Given the description of an element on the screen output the (x, y) to click on. 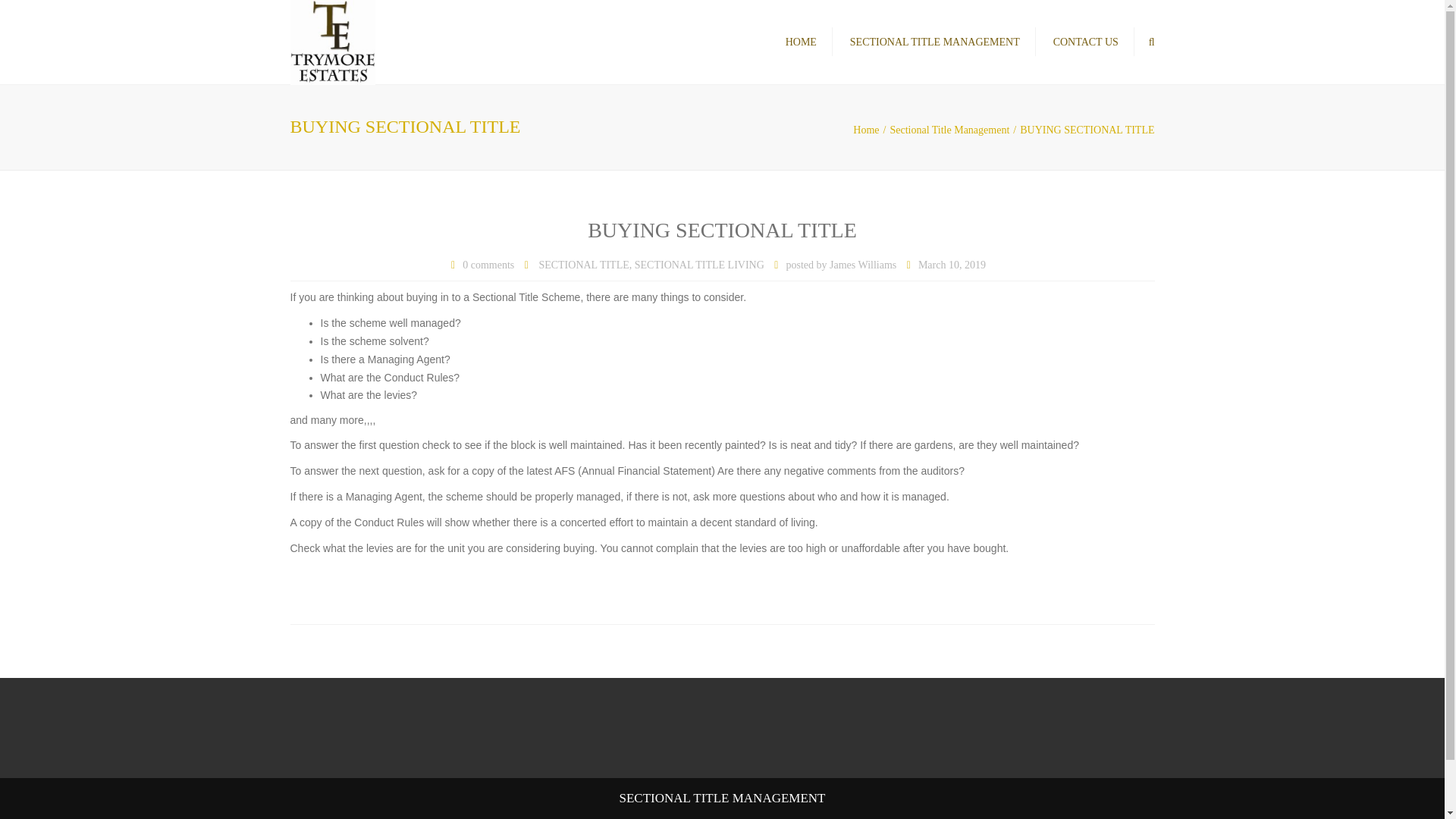
SECTIONAL TITLE LIVING (699, 265)
Home (871, 129)
James Williams (862, 265)
SECTIONAL TITLE (583, 265)
CONTACT US (1085, 41)
HOME (800, 41)
Sectional Title Management (954, 129)
0 comments (488, 265)
Search (1151, 41)
SECTIONAL TITLE MANAGEMENT (935, 41)
